Given the description of an element on the screen output the (x, y) to click on. 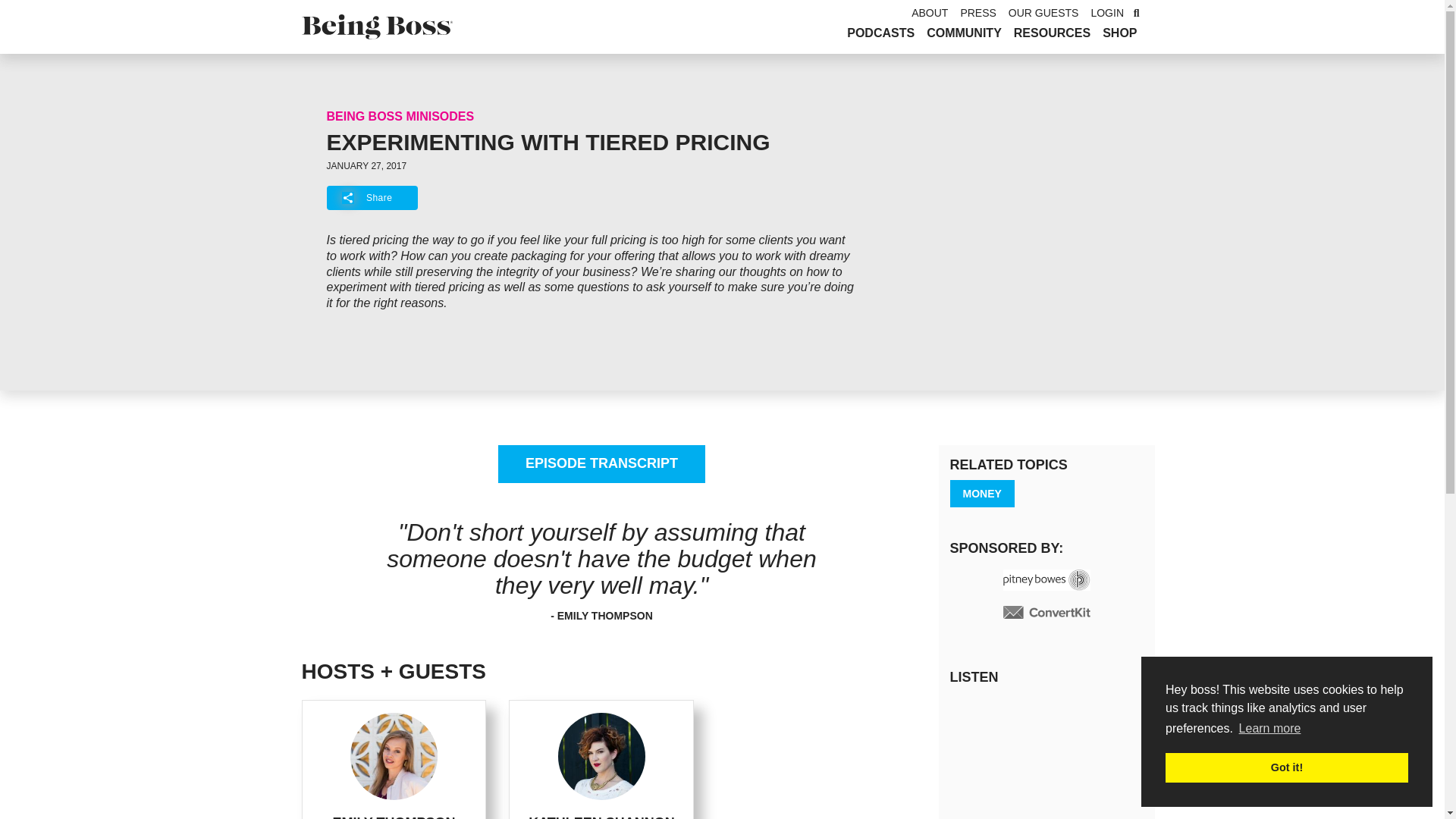
Got it! (1286, 767)
ABOUT (929, 12)
PRESS (977, 12)
PODCASTS (880, 33)
MONEY (981, 492)
OUR GUESTS (1043, 12)
SHOP (1119, 33)
BEING BOSS MINISODES (400, 115)
LOGIN (1106, 12)
COMMUNITY (963, 33)
EPISODE TRANSCRIPT (600, 463)
Learn more (1269, 728)
RESOURCES (1051, 33)
